Given the description of an element on the screen output the (x, y) to click on. 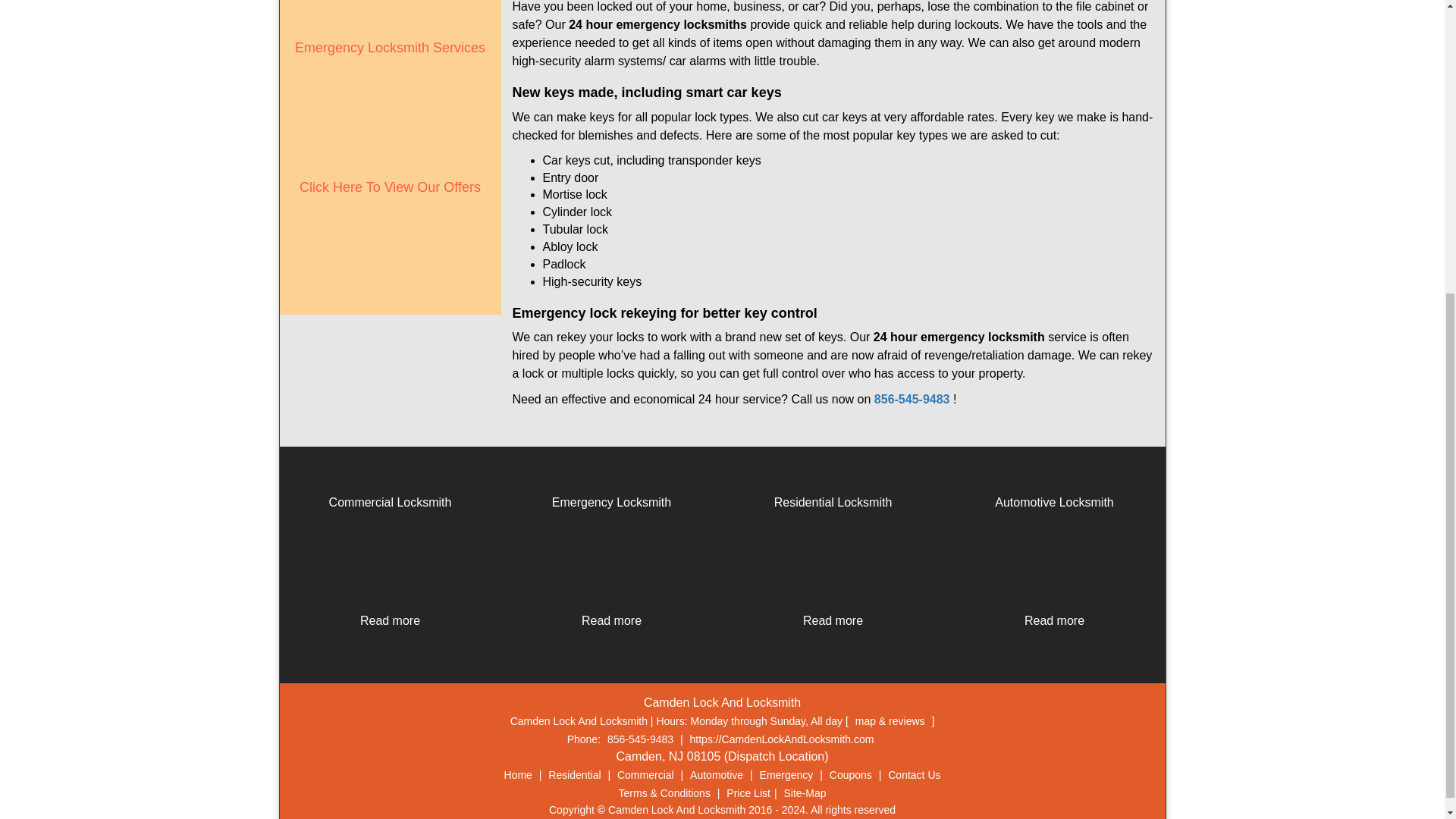
Read more (389, 620)
Click Here To View Our Offers (389, 187)
Emergency Locksmith (611, 502)
Read more (611, 620)
856-545-9483 (912, 399)
Commercial Locksmith (390, 502)
Emergency Locksmith Services (389, 47)
